Given the description of an element on the screen output the (x, y) to click on. 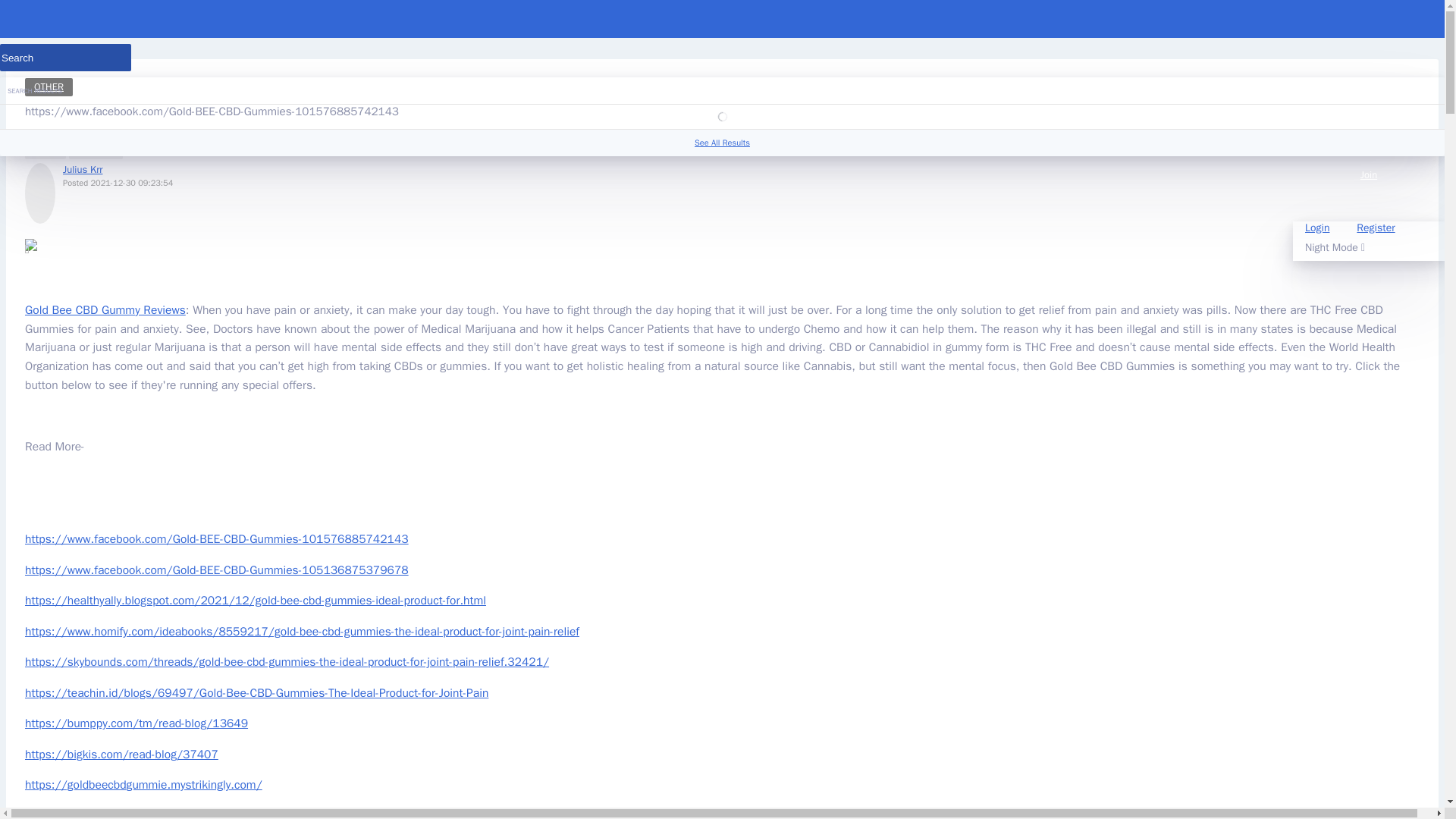
OTHER (48, 86)
Join (1368, 188)
Gold Bee CBD Gummy Reviews (105, 309)
Login (1316, 227)
Julius Krr (81, 169)
See All Results (722, 142)
0 (44, 146)
Register (1374, 227)
